Given the description of an element on the screen output the (x, y) to click on. 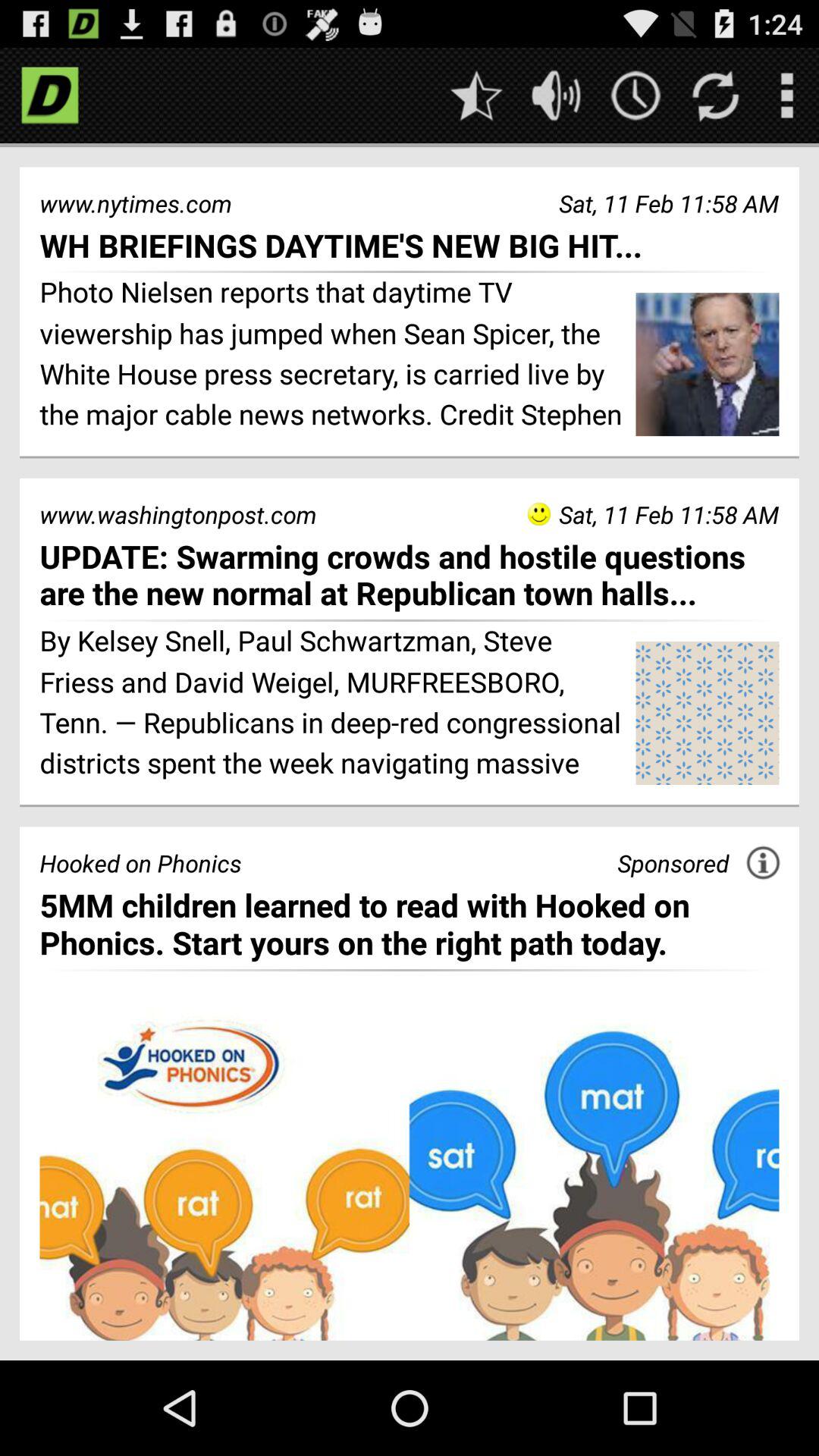
select item next to sat 11 feb icon (539, 514)
